Given the description of an element on the screen output the (x, y) to click on. 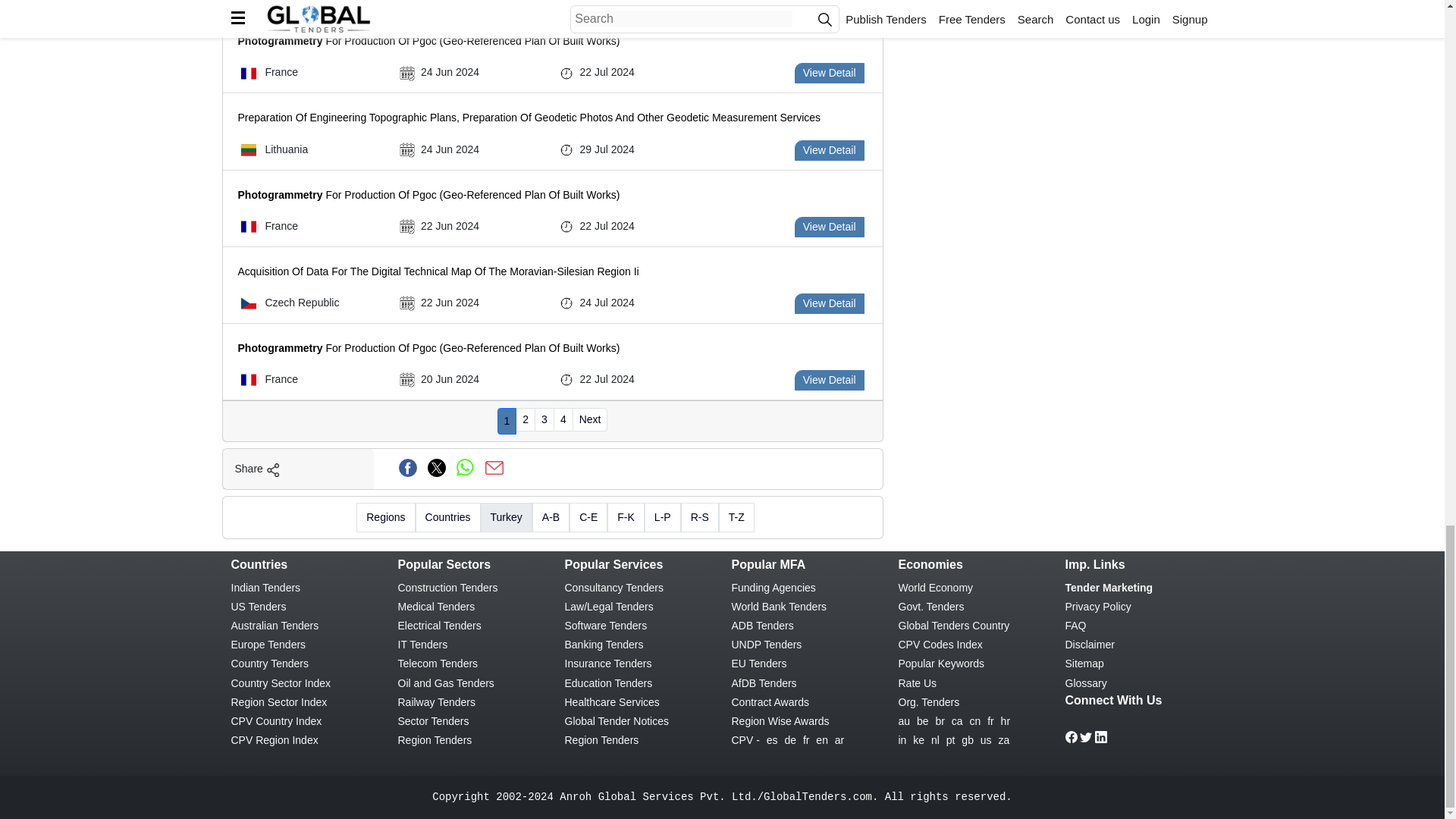
View Detail (829, 73)
View Detail (829, 3)
View Detail (829, 150)
View Detail (829, 303)
View Detail (829, 227)
